Given the description of an element on the screen output the (x, y) to click on. 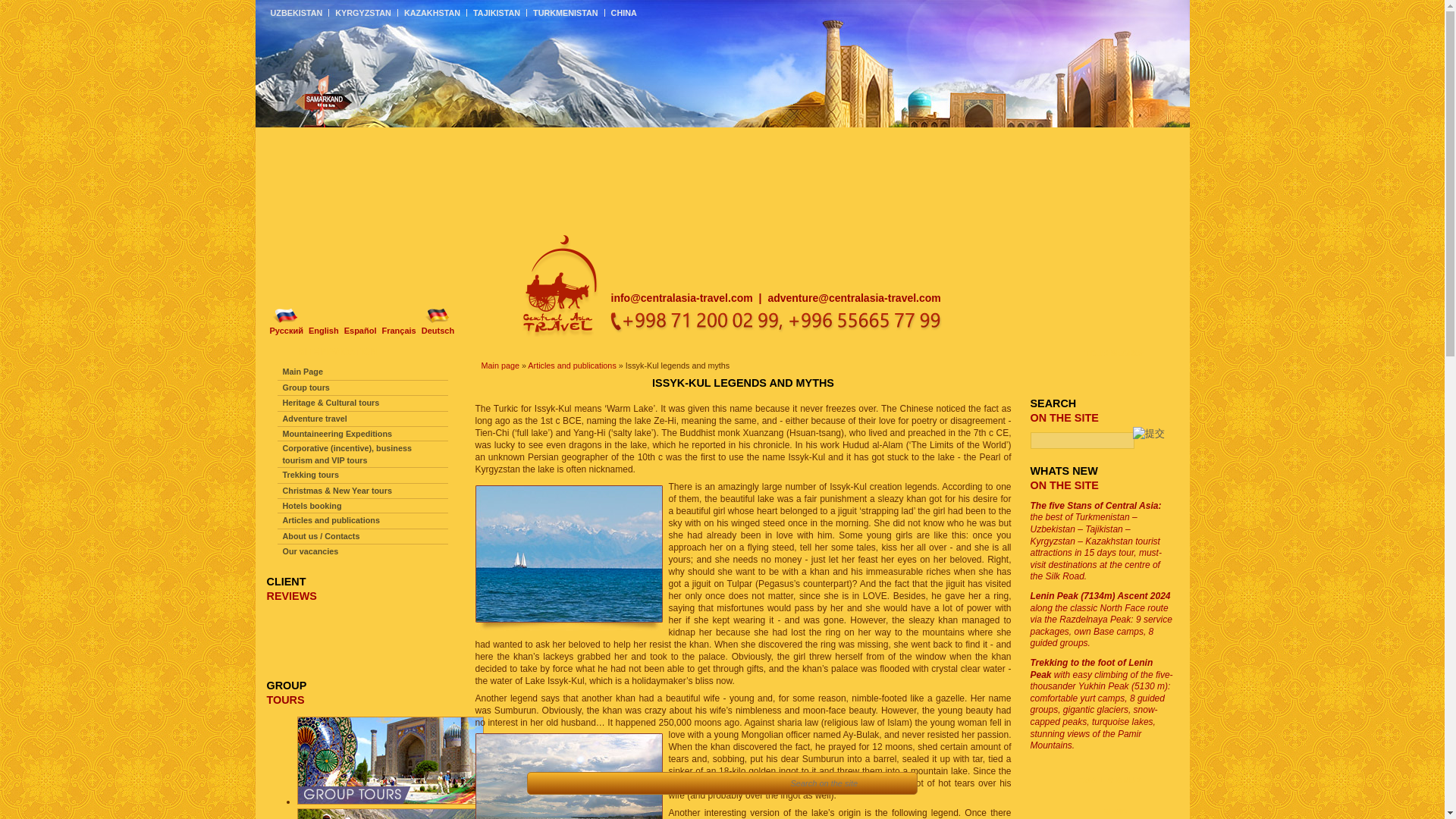
English (325, 321)
Deutsch (441, 321)
Central Asia Travel company (561, 333)
